Given the description of an element on the screen output the (x, y) to click on. 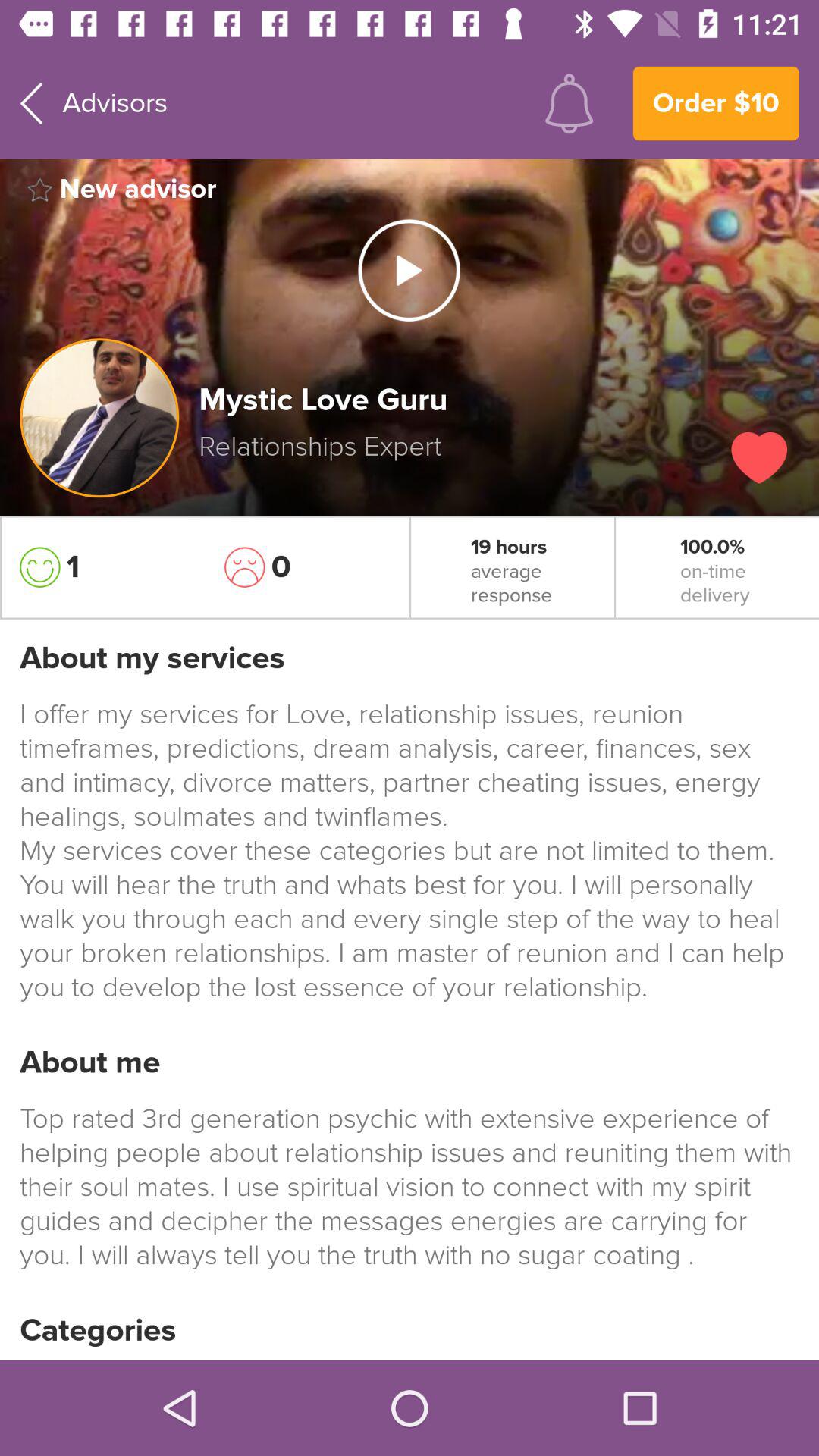
choose the icon above the about my services (102, 567)
